Given the description of an element on the screen output the (x, y) to click on. 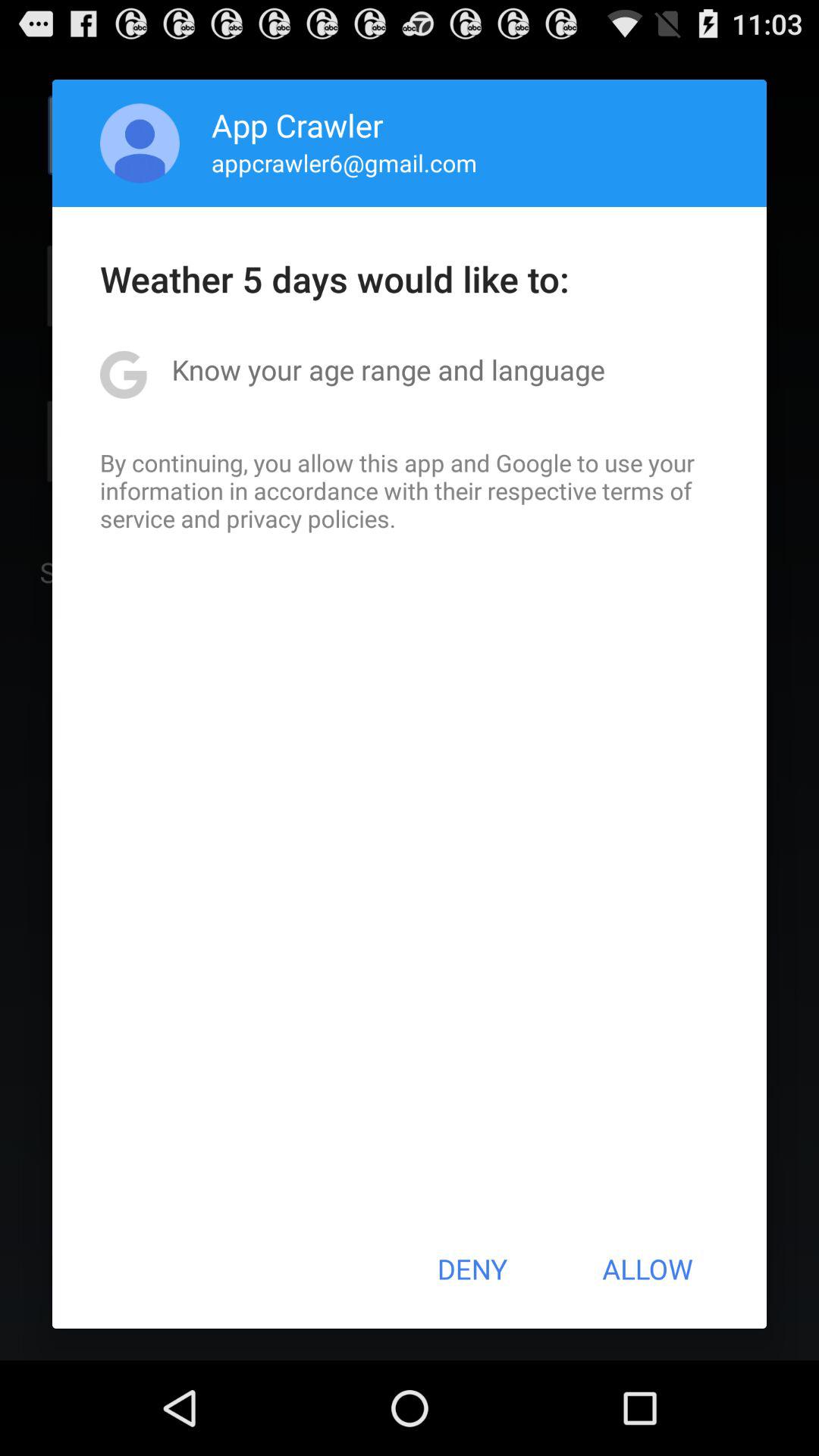
turn off icon above appcrawler6@gmail.com (297, 124)
